Given the description of an element on the screen output the (x, y) to click on. 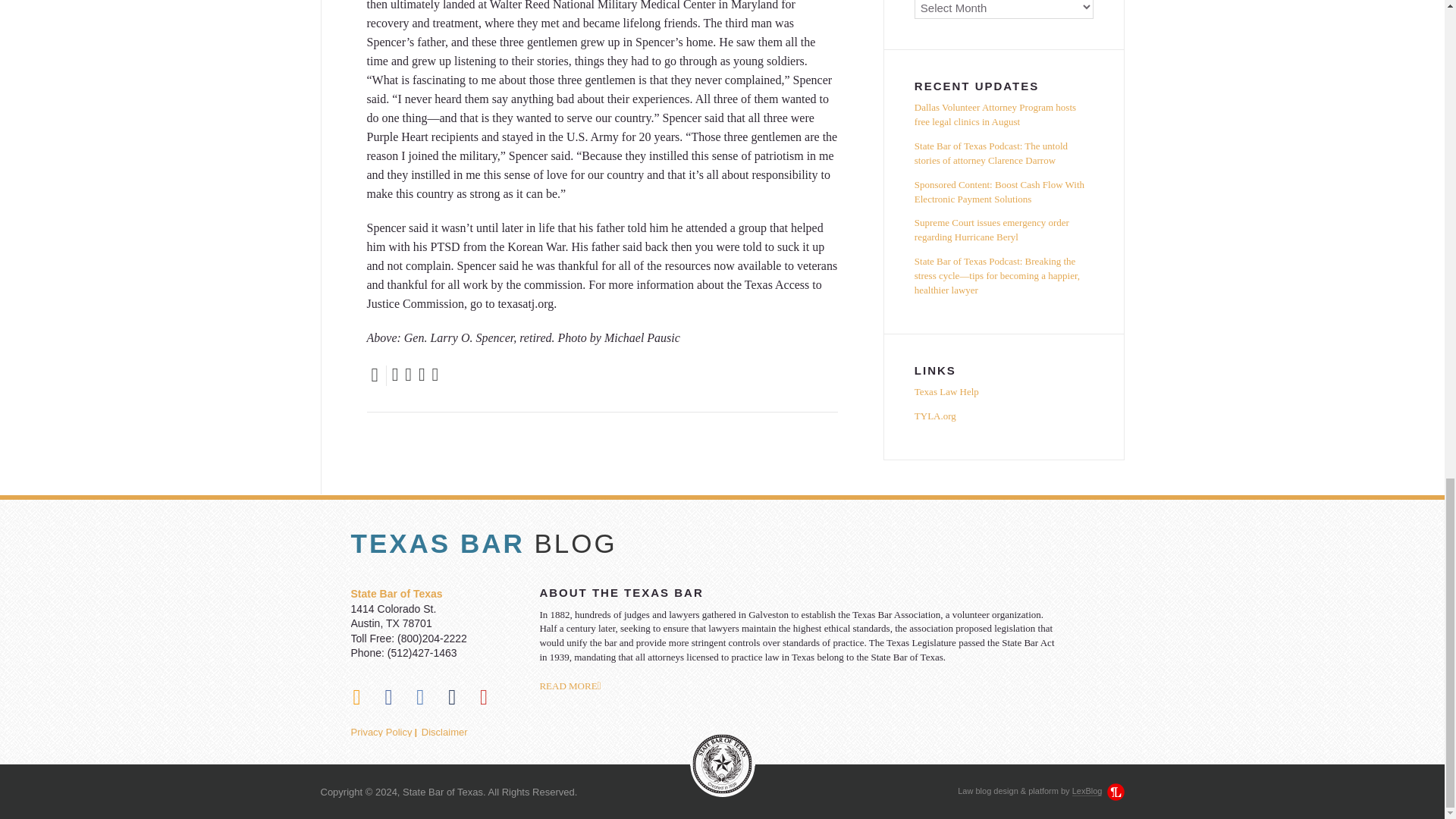
TYLA.org (1003, 416)
State Bar of Texas (396, 593)
TEXAS BAR BLOG (721, 542)
Texas Law Help (1003, 394)
